Given the description of an element on the screen output the (x, y) to click on. 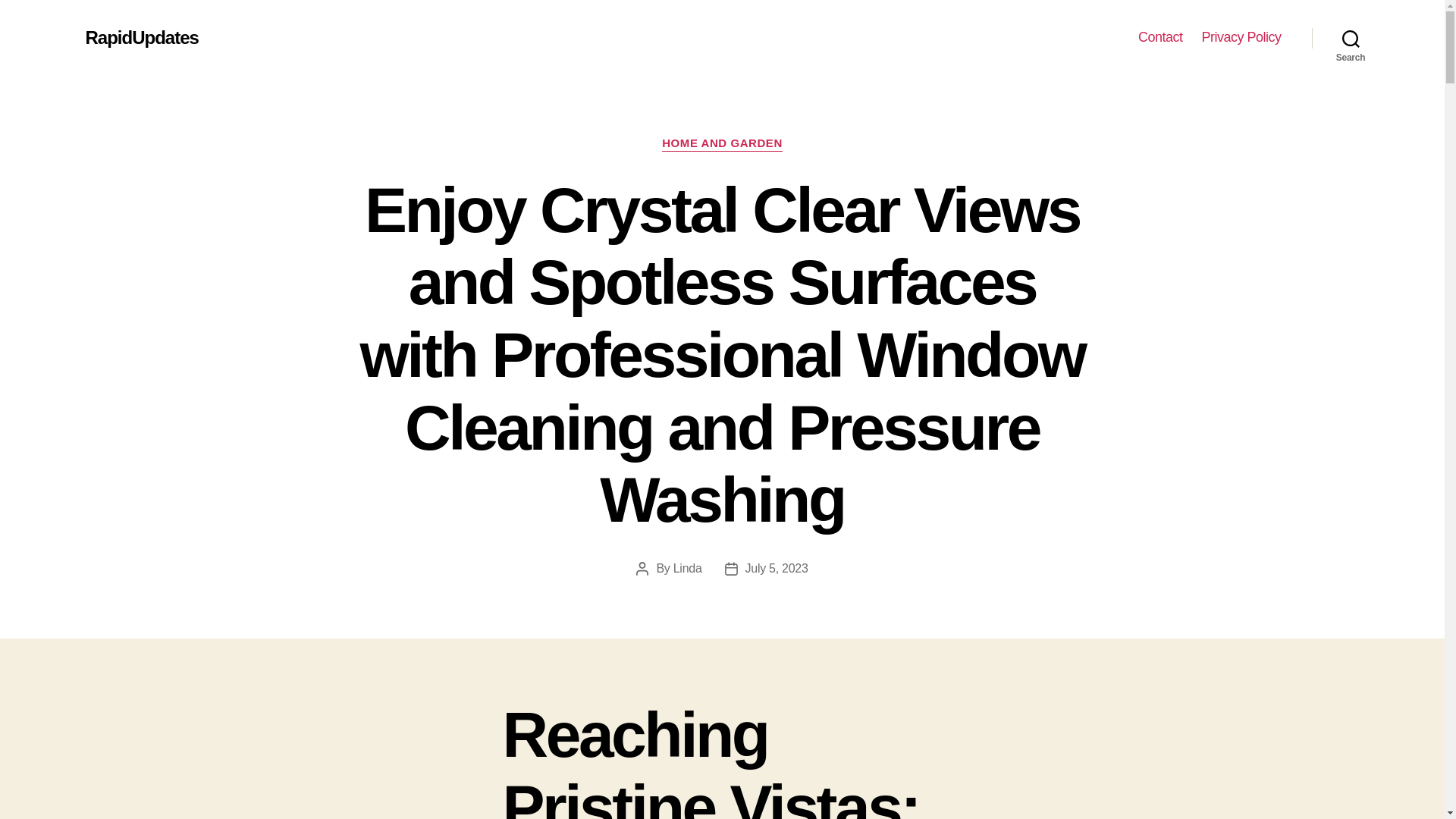
Search (1350, 37)
Privacy Policy (1241, 37)
Linda (686, 567)
RapidUpdates (141, 37)
HOME AND GARDEN (722, 143)
July 5, 2023 (776, 567)
Contact (1160, 37)
